Given the description of an element on the screen output the (x, y) to click on. 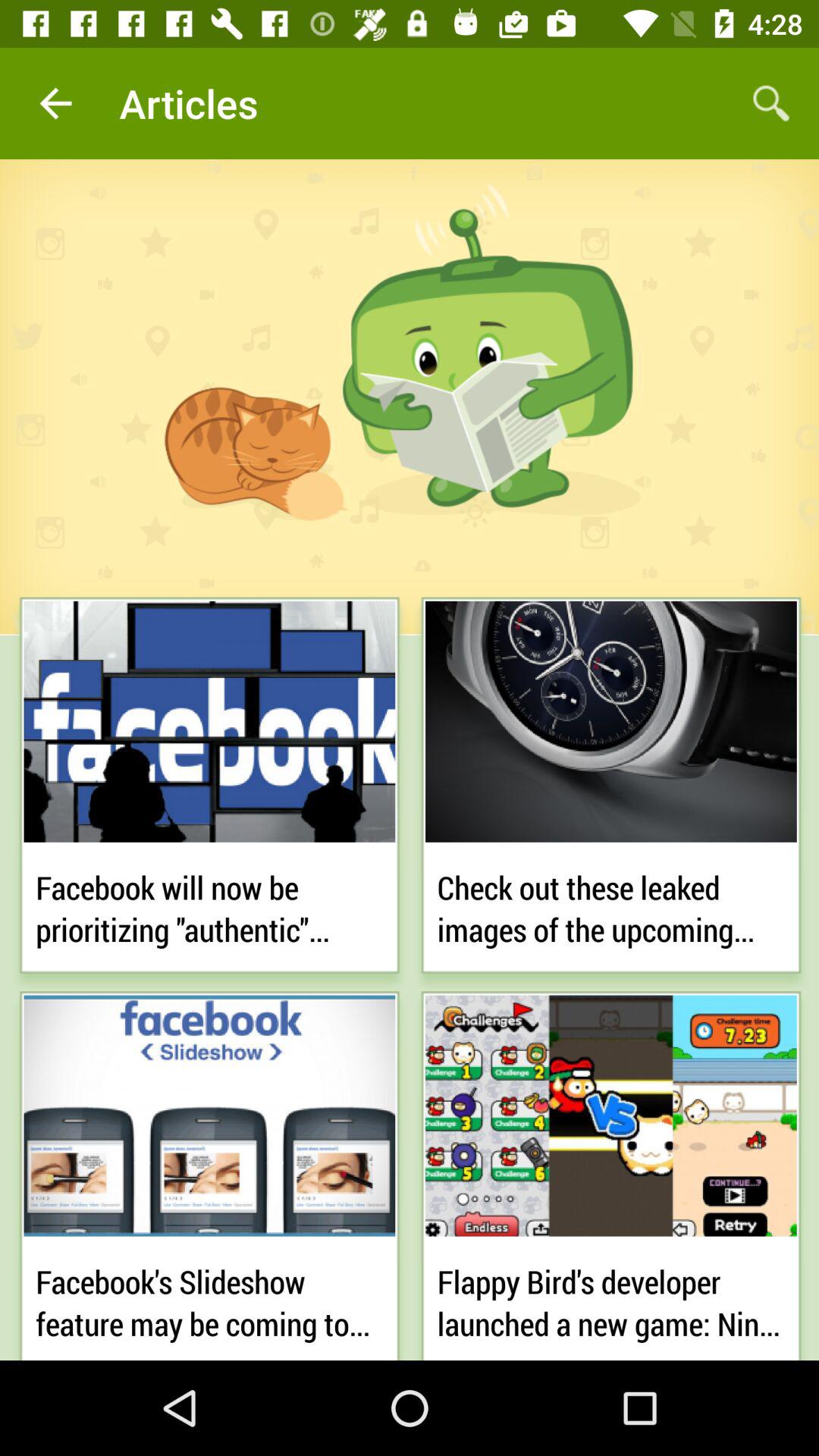
click the check out these (610, 905)
